Given the description of an element on the screen output the (x, y) to click on. 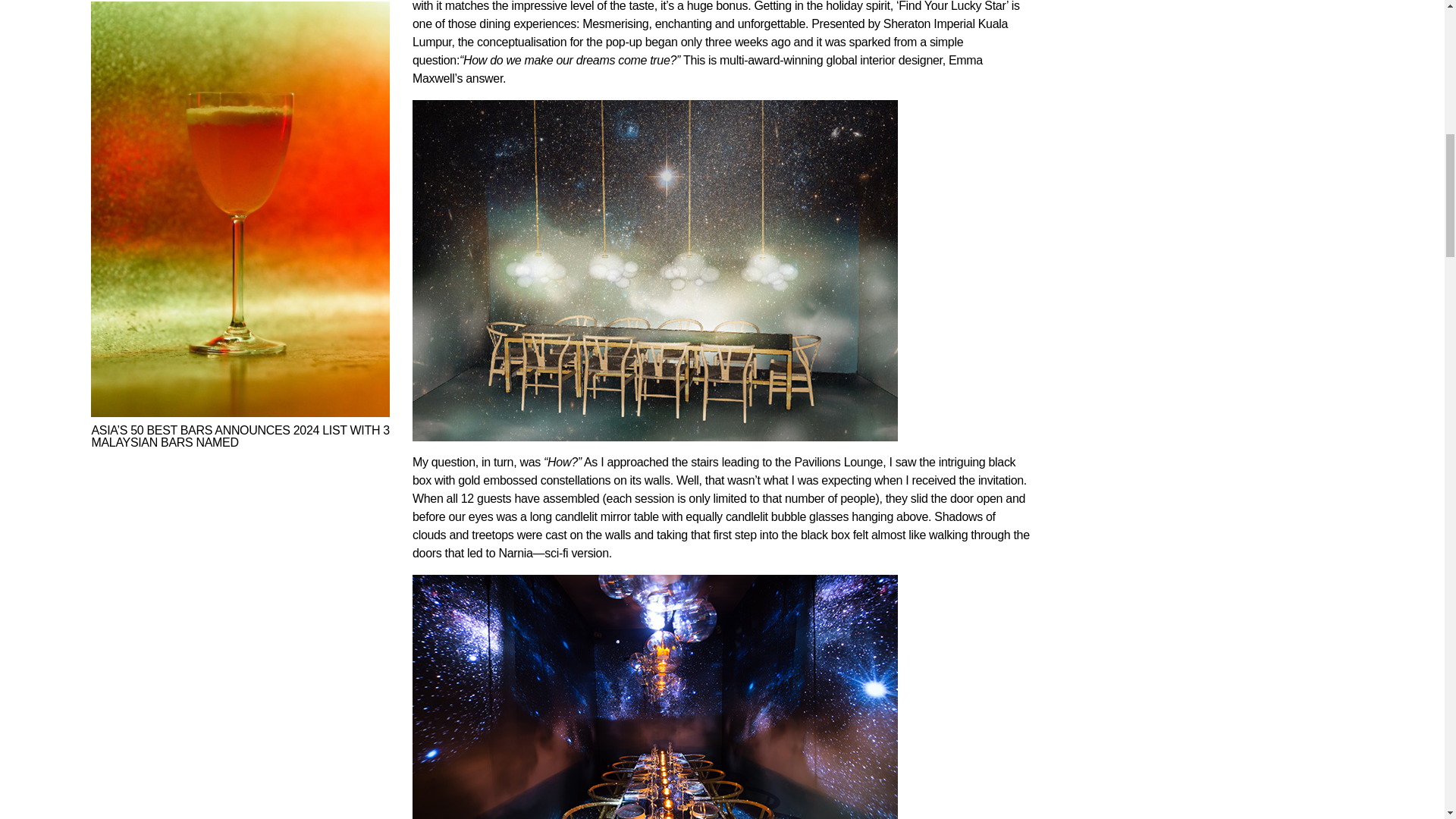
The experience only seats 12 people at a time (655, 696)
